Given the description of an element on the screen output the (x, y) to click on. 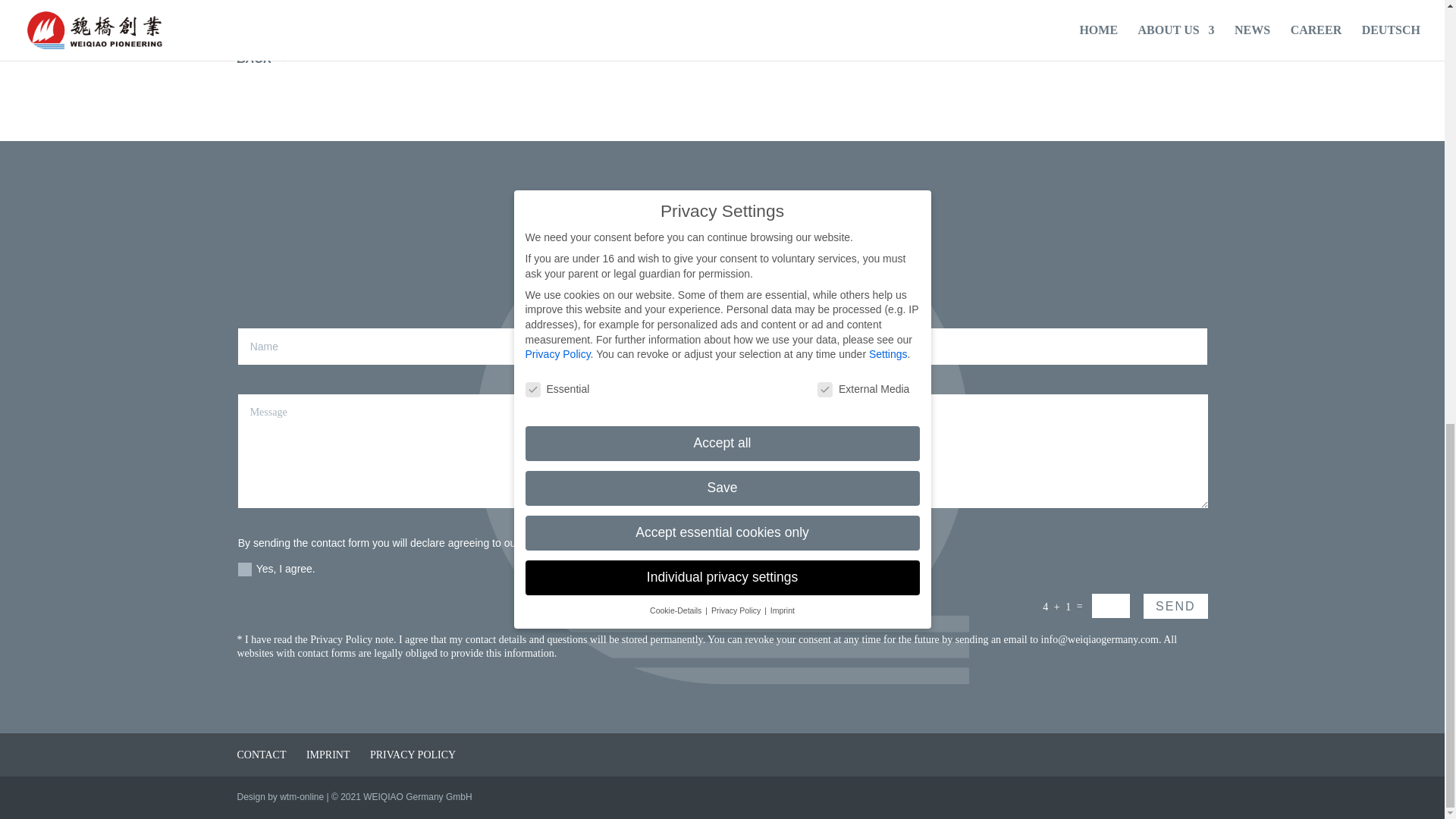
SEND (1174, 606)
CONTACT (260, 754)
IMPRINT (327, 754)
Privacy Policy (341, 639)
PRIVACY POLICY (412, 754)
